Given the description of an element on the screen output the (x, y) to click on. 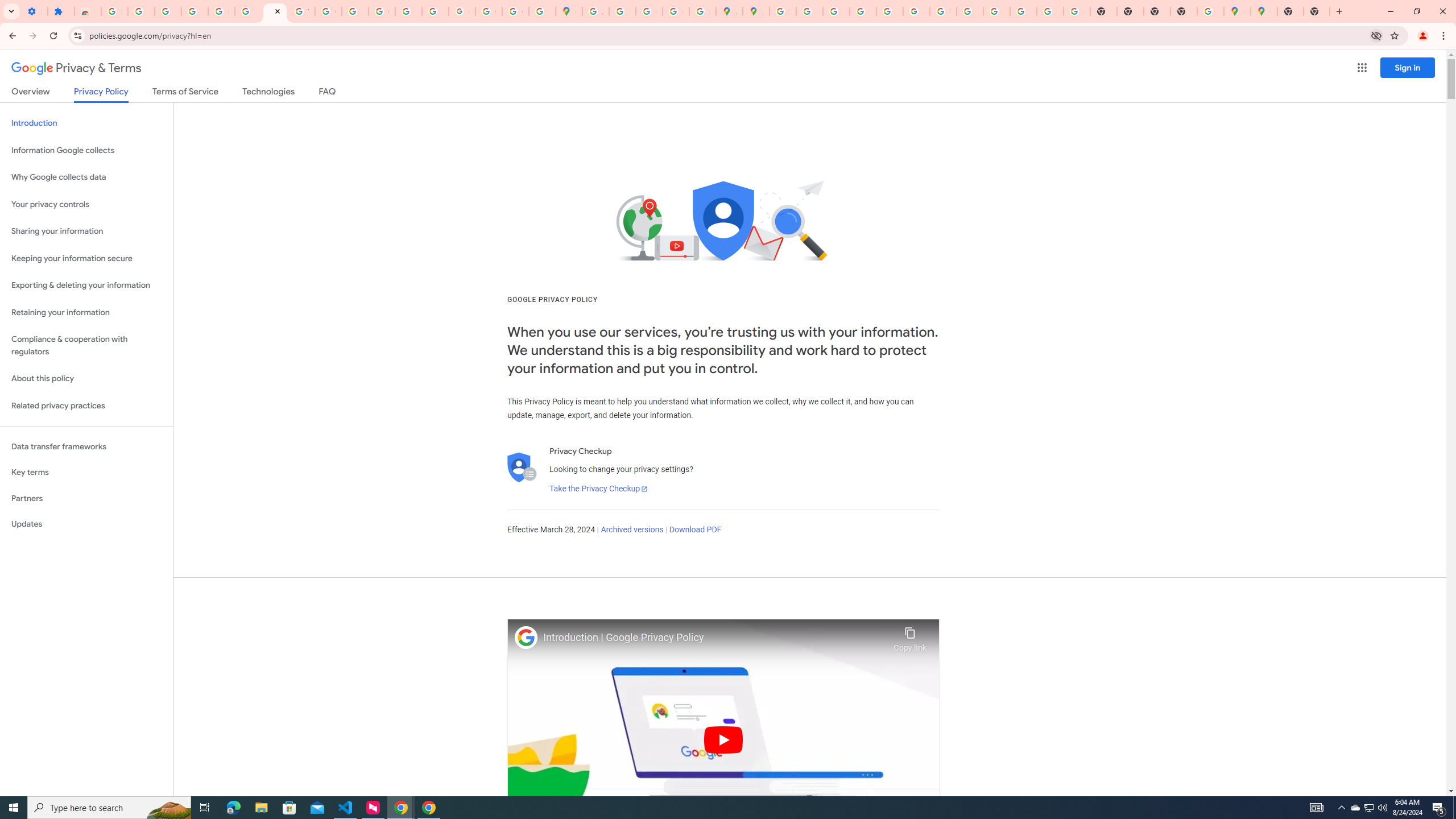
Download PDF (695, 529)
